Given the description of an element on the screen output the (x, y) to click on. 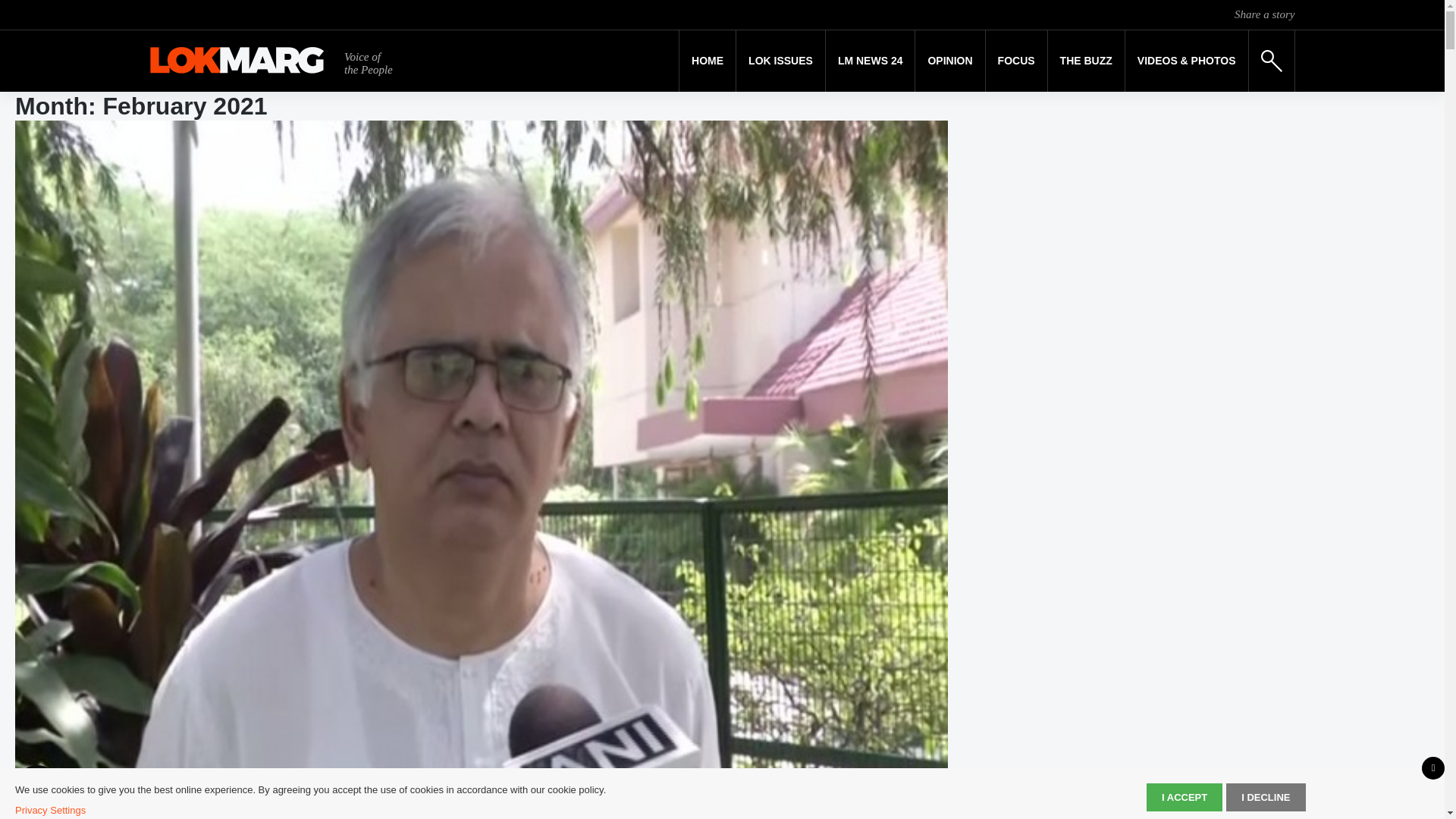
FOCUS (1015, 60)
THE BUZZ (1086, 60)
LOK ISSUES (780, 60)
HOME (707, 60)
Focus (1015, 60)
Lok Issues (780, 60)
Share a story (1264, 14)
Home (707, 60)
Opinion (949, 60)
LM News 24 (870, 60)
LM NEWS 24 (870, 60)
THE BUZZ (1086, 60)
OPINION (949, 60)
